Given the description of an element on the screen output the (x, y) to click on. 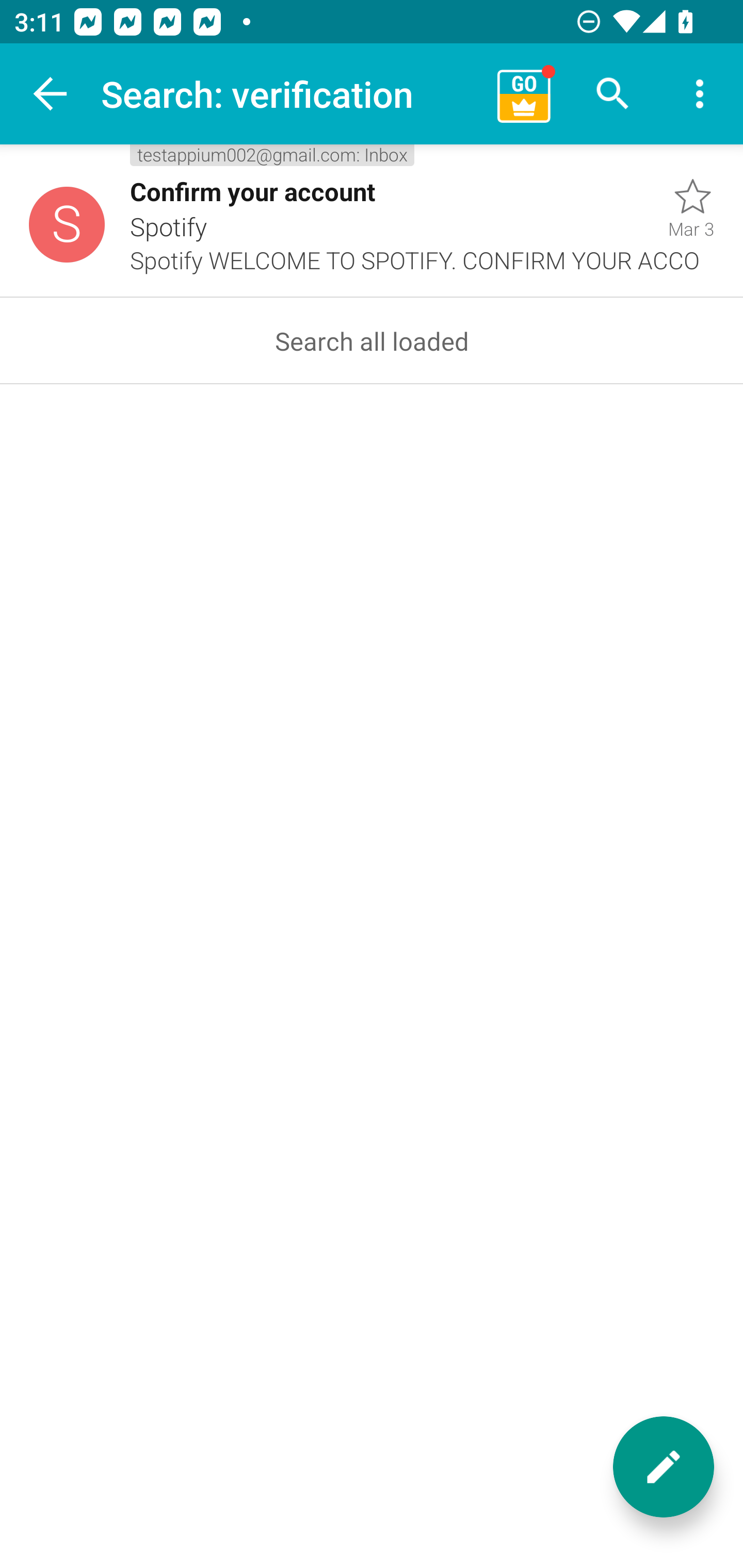
Navigate up (50, 93)
Search (612, 93)
More options (699, 93)
Search all loaded (371, 340)
New message (663, 1466)
